Given the description of an element on the screen output the (x, y) to click on. 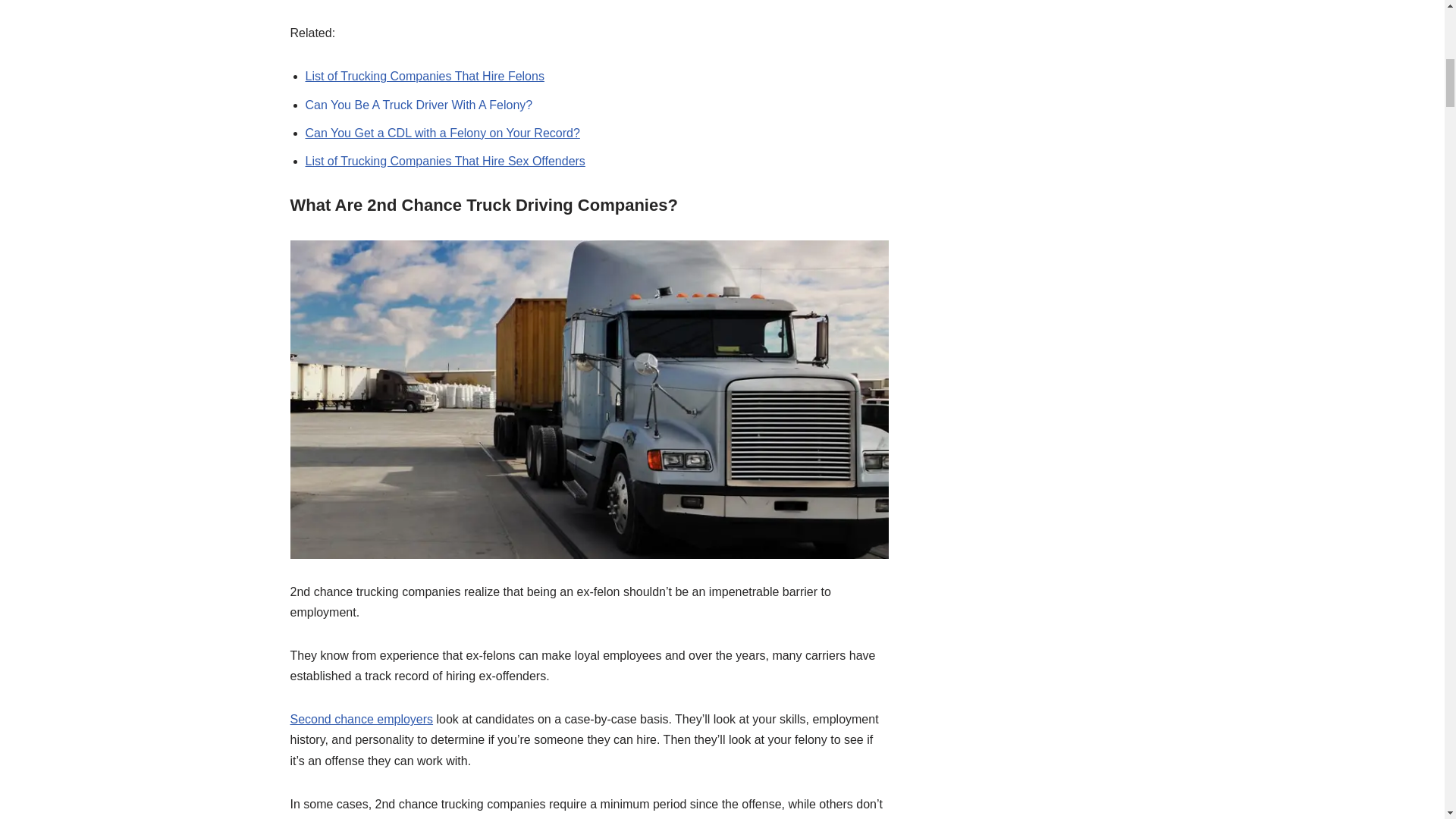
List of Trucking Companies That Hire Felons (423, 75)
List of Trucking Companies That Hire Sex Offenders (444, 160)
Can You Get a CDL with a Felony on Your Record? (441, 132)
Second chance employers (360, 718)
Can You Be A Truck Driver With A Felony? (418, 104)
